Given the description of an element on the screen output the (x, y) to click on. 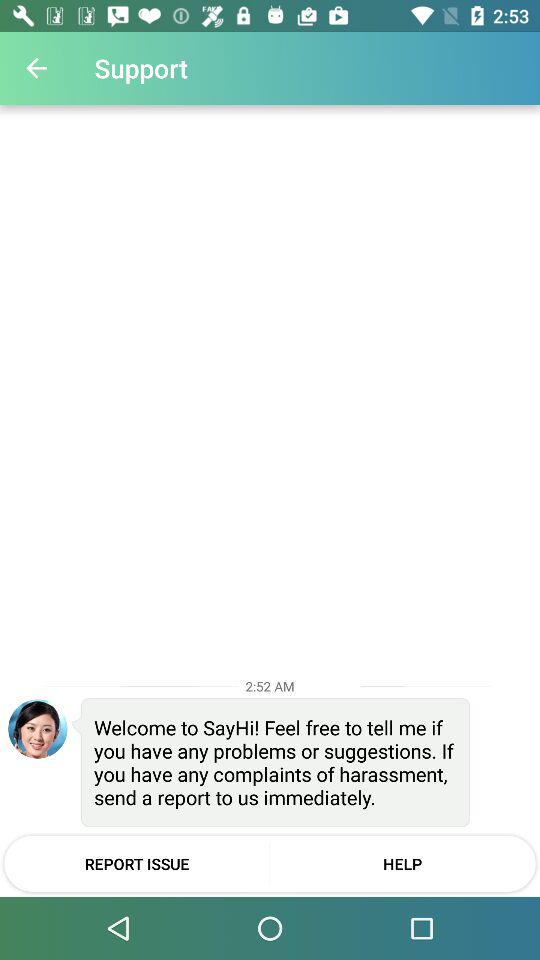
flip until the report issue icon (136, 863)
